Given the description of an element on the screen output the (x, y) to click on. 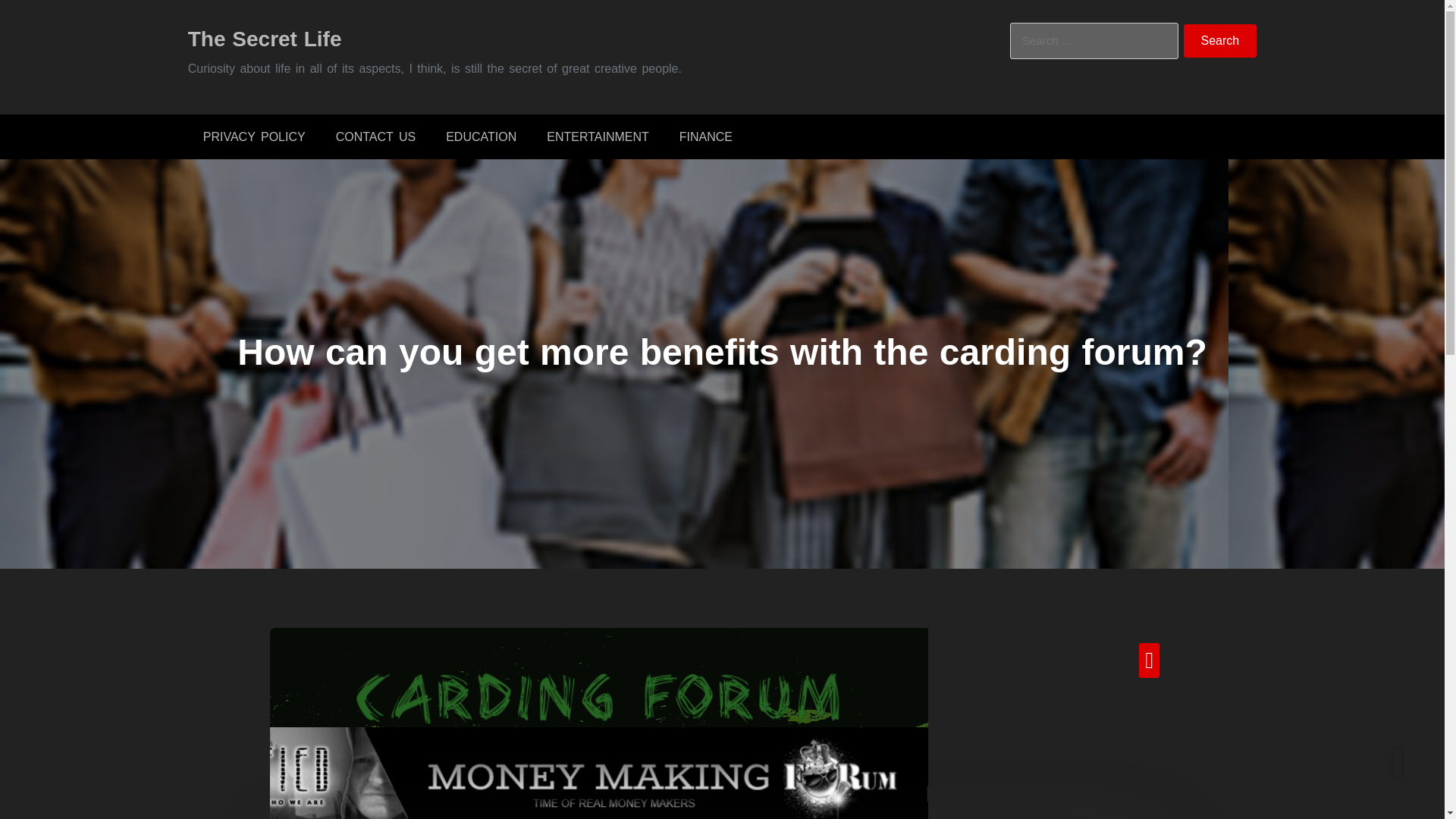
EDUCATION (480, 136)
FINANCE (705, 136)
The Secret Life (264, 38)
Search (1220, 40)
Search (1220, 40)
ENTERTAINMENT (597, 136)
PRIVACY POLICY (253, 136)
CONTACT US (375, 136)
Search (1220, 40)
